Given the description of an element on the screen output the (x, y) to click on. 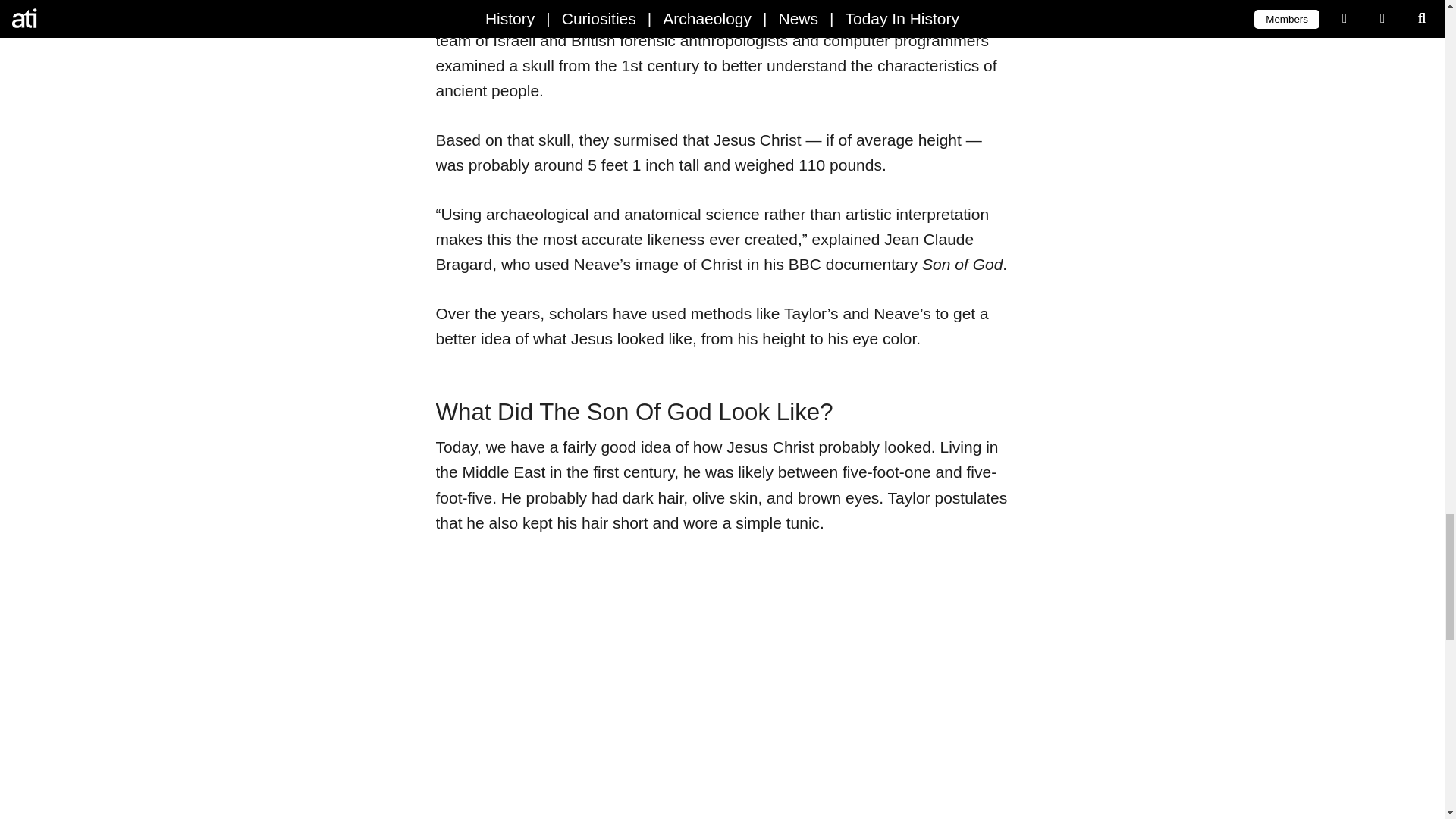
came to a similar conclusion (632, 15)
